Given the description of an element on the screen output the (x, y) to click on. 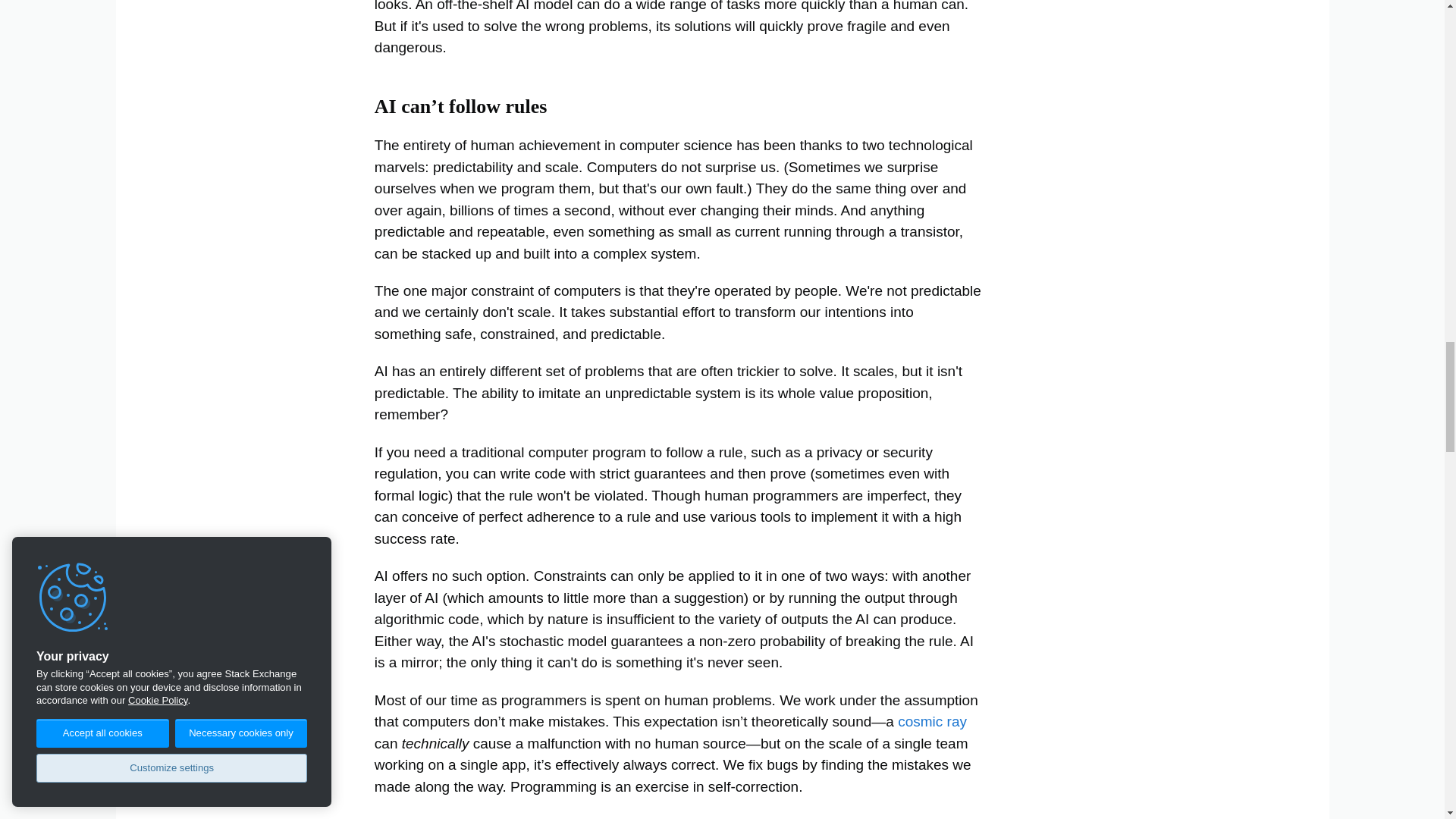
cosmic ray (932, 721)
